Given the description of an element on the screen output the (x, y) to click on. 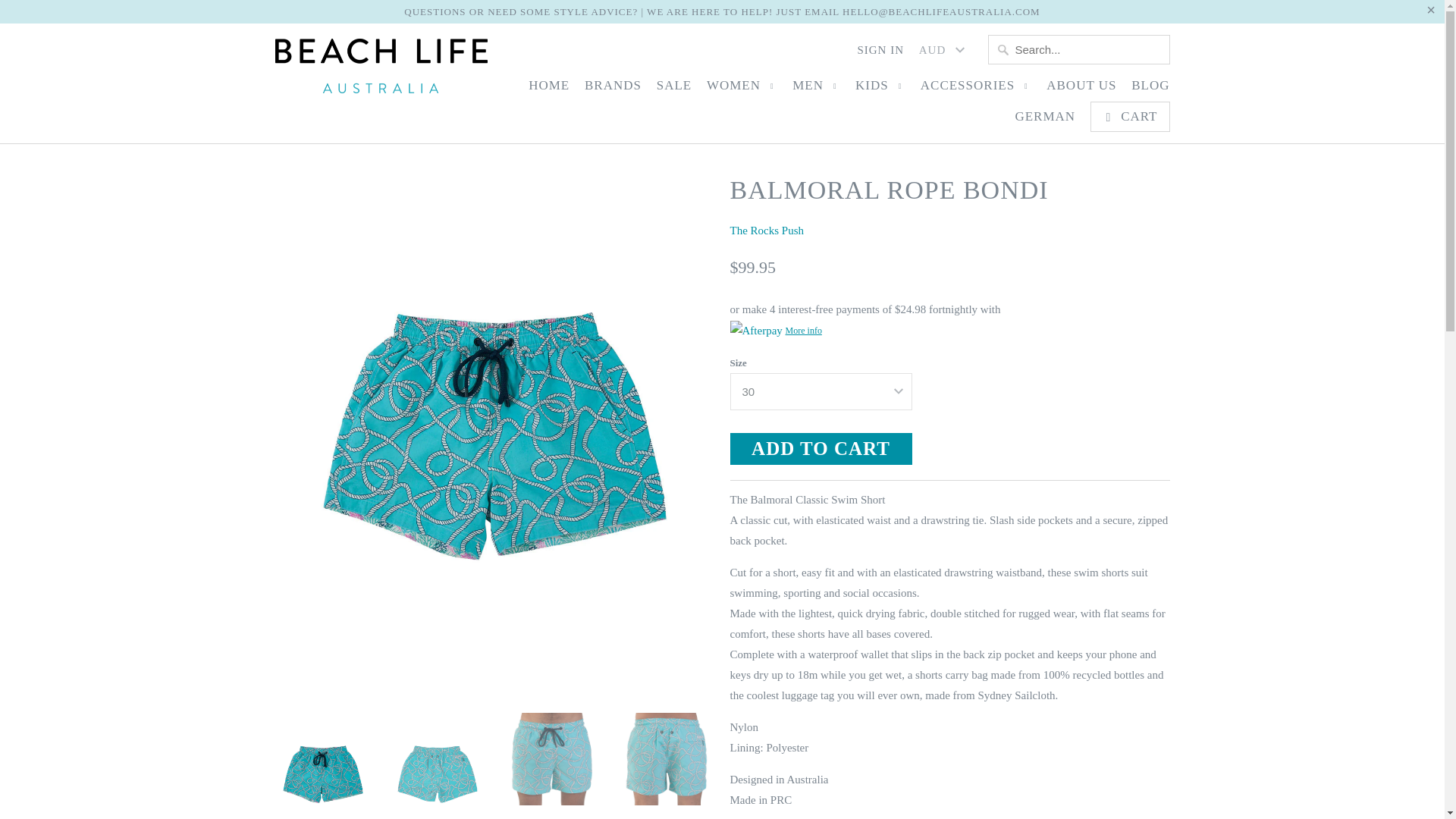
SIGN IN (880, 53)
Cart (1130, 116)
BRANDS (613, 88)
SALE (674, 88)
HOME (548, 88)
WOMEN (741, 89)
Beach Life Australia (380, 69)
